Given the description of an element on the screen output the (x, y) to click on. 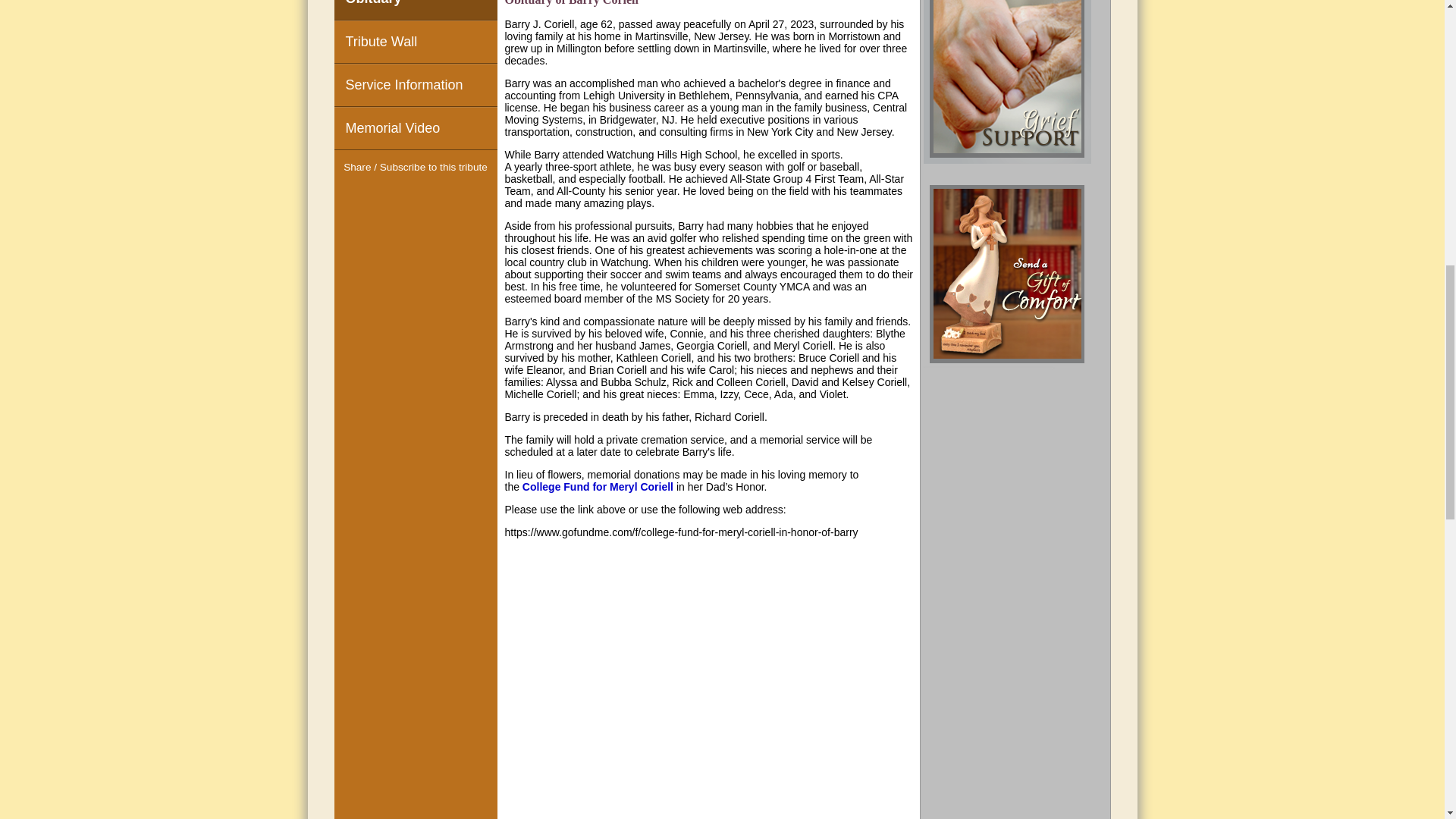
Facebook (387, 196)
Twitter (415, 196)
Obituary (414, 9)
Memorial Video (414, 128)
Receive Notifications (442, 196)
Tribute Wall (414, 42)
College Fund for Meryl Coriell (597, 486)
Service Information (414, 85)
